Given the description of an element on the screen output the (x, y) to click on. 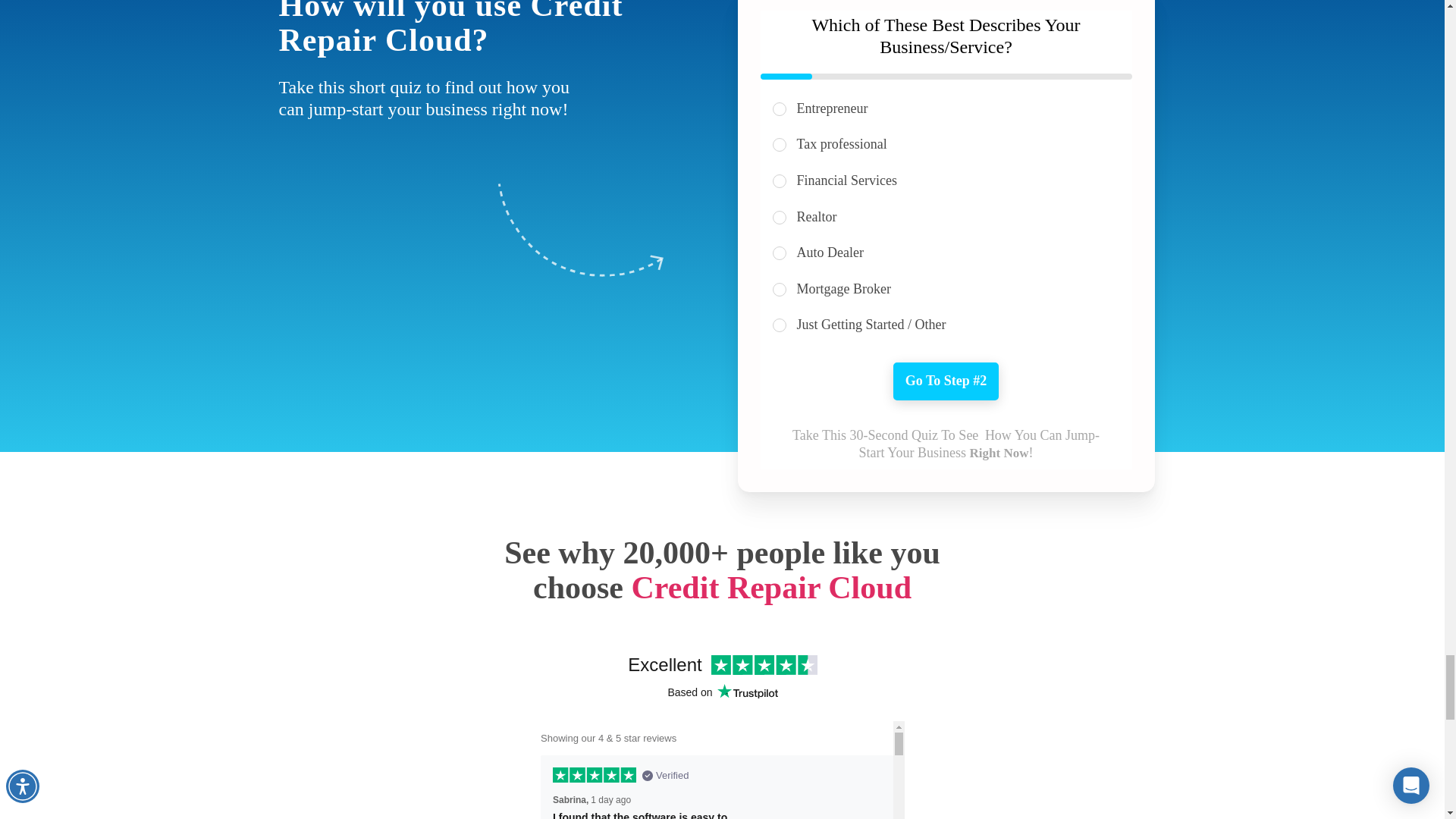
Customer reviews powered by Trustpilot (722, 730)
